Given the description of an element on the screen output the (x, y) to click on. 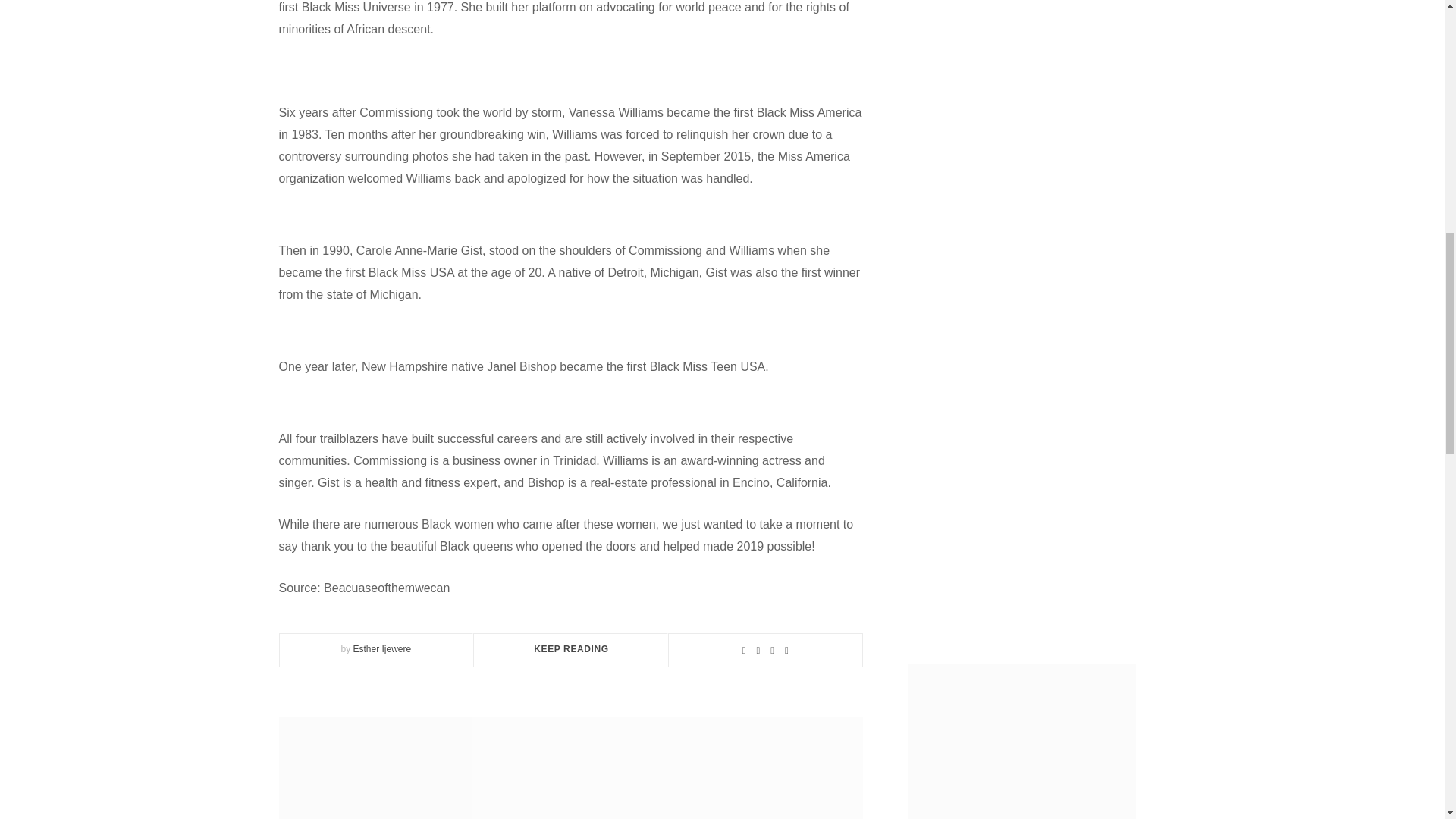
AGBANI DAREGO AND HUSBAND WELCOME SON (571, 767)
Esther Ijewere (381, 648)
KEEP READING (571, 648)
Posts by Esther Ijewere (381, 648)
